Given the description of an element on the screen output the (x, y) to click on. 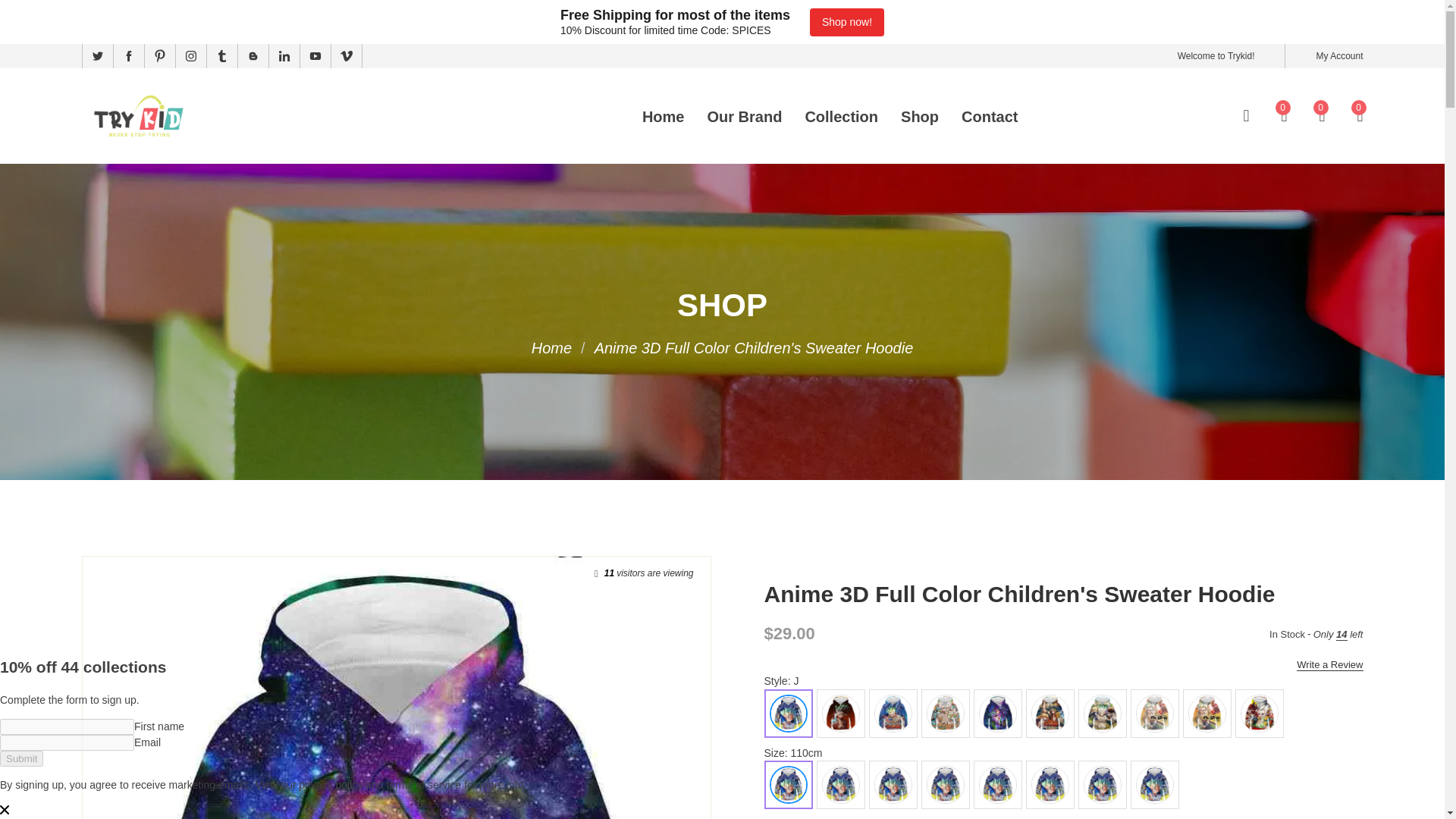
My Account (1339, 55)
Our Brand (743, 116)
Shop now! (846, 22)
Collection (841, 116)
Home (663, 116)
Shop (920, 116)
